Given the description of an element on the screen output the (x, y) to click on. 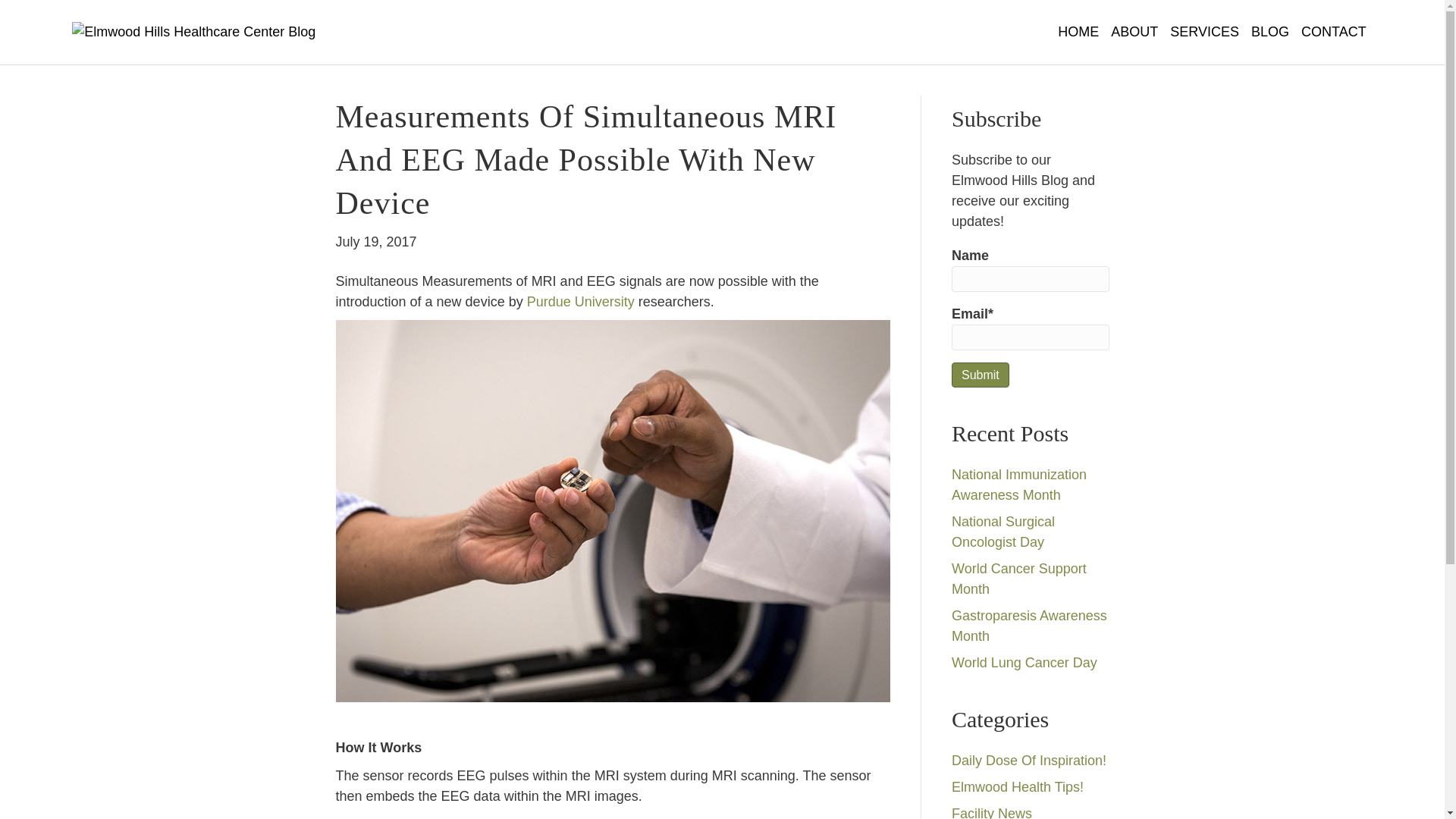
National Surgical Oncologist Day (1003, 531)
SERVICES (1203, 32)
Submit (980, 374)
ABOUT (1134, 32)
Submit (980, 374)
CONTACT (1334, 32)
Purdue University (580, 301)
BLOG (1269, 32)
National Immunization Awareness Month (1019, 484)
HOME (1078, 32)
